Given the description of an element on the screen output the (x, y) to click on. 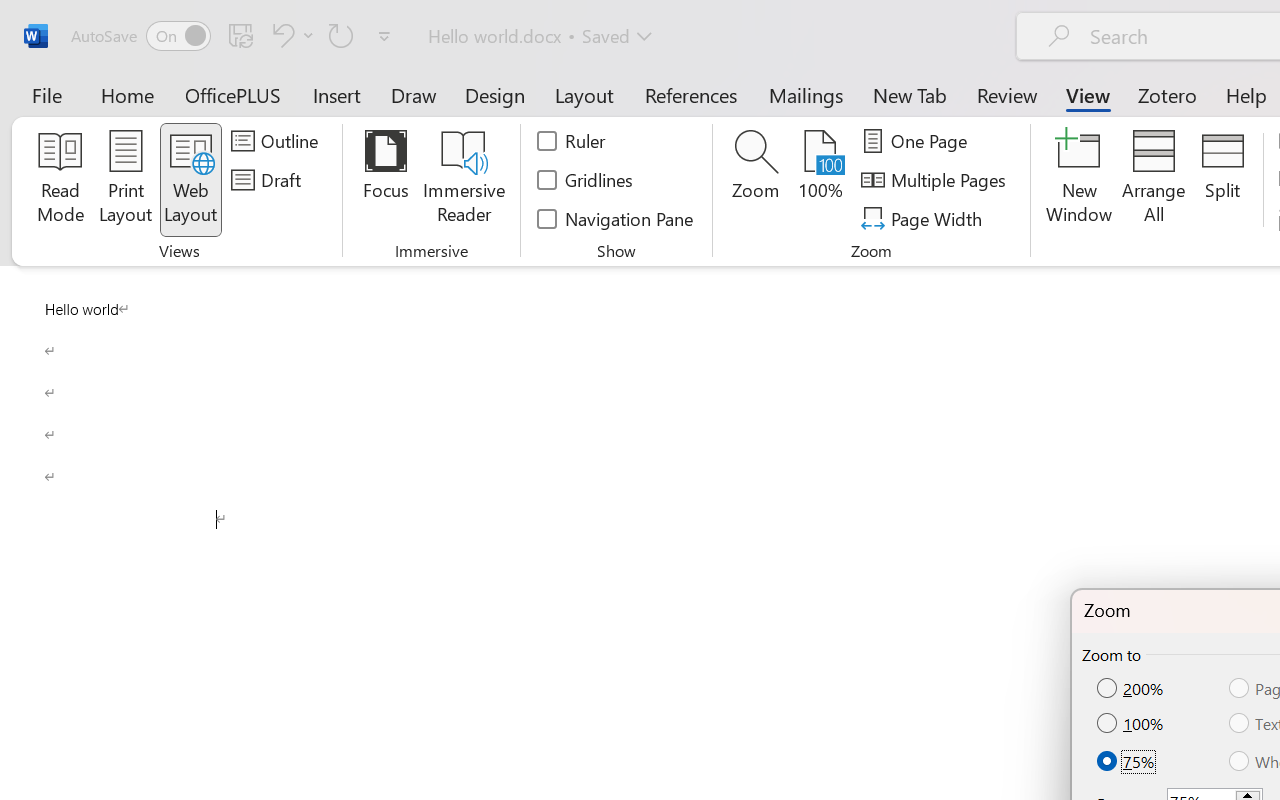
Gridlines (586, 179)
Zotero (1166, 94)
Layout (584, 94)
75% (1127, 760)
File Tab (46, 94)
Immersive Reader (464, 179)
Zoom... (755, 179)
Insert (337, 94)
AutoSave (140, 35)
Draft (269, 179)
Home (127, 94)
Focus (385, 179)
Mailings (806, 94)
Page Width (924, 218)
